Given the description of an element on the screen output the (x, y) to click on. 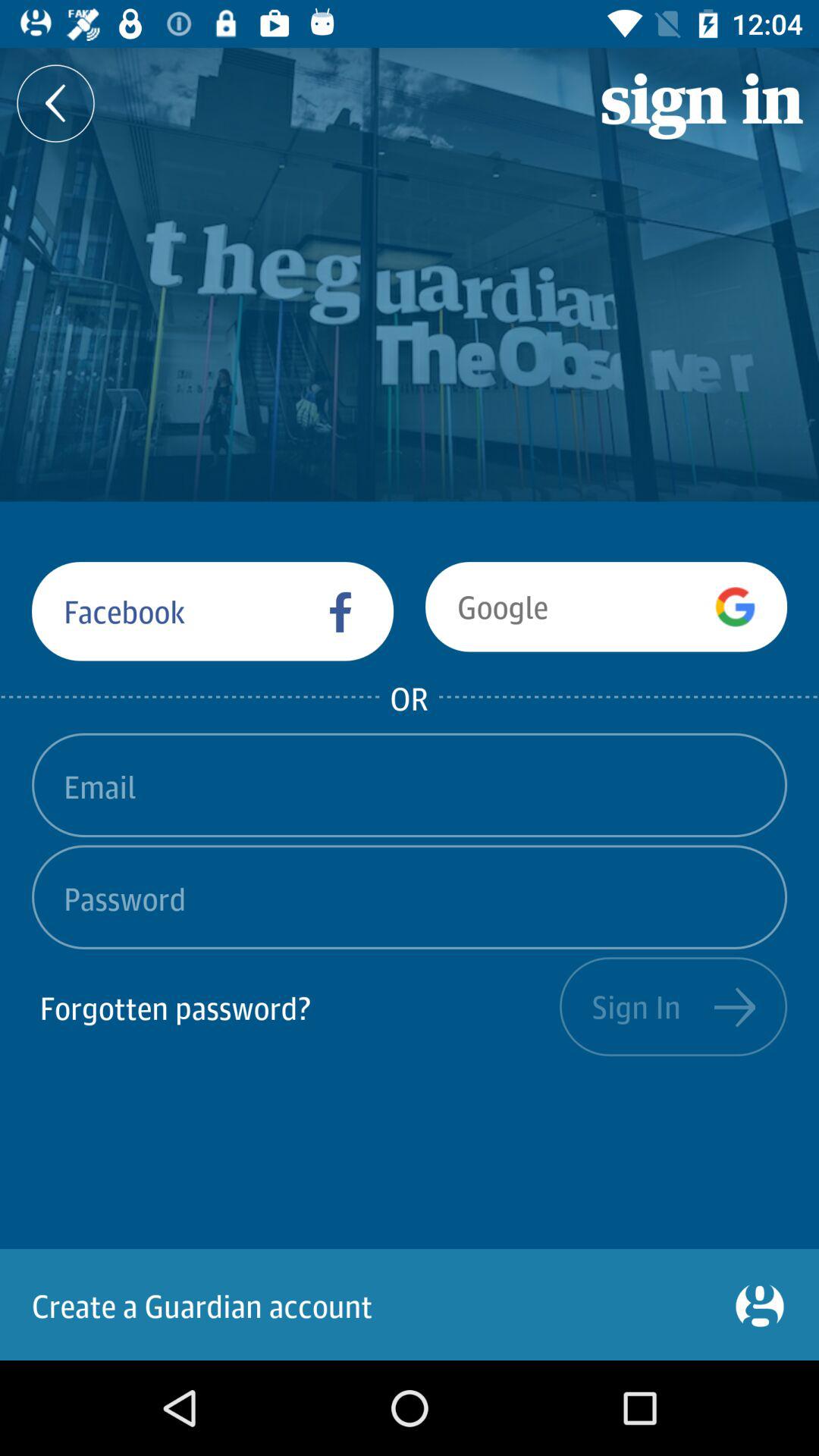
swipe to forgotten password? (295, 1006)
